Given the description of an element on the screen output the (x, y) to click on. 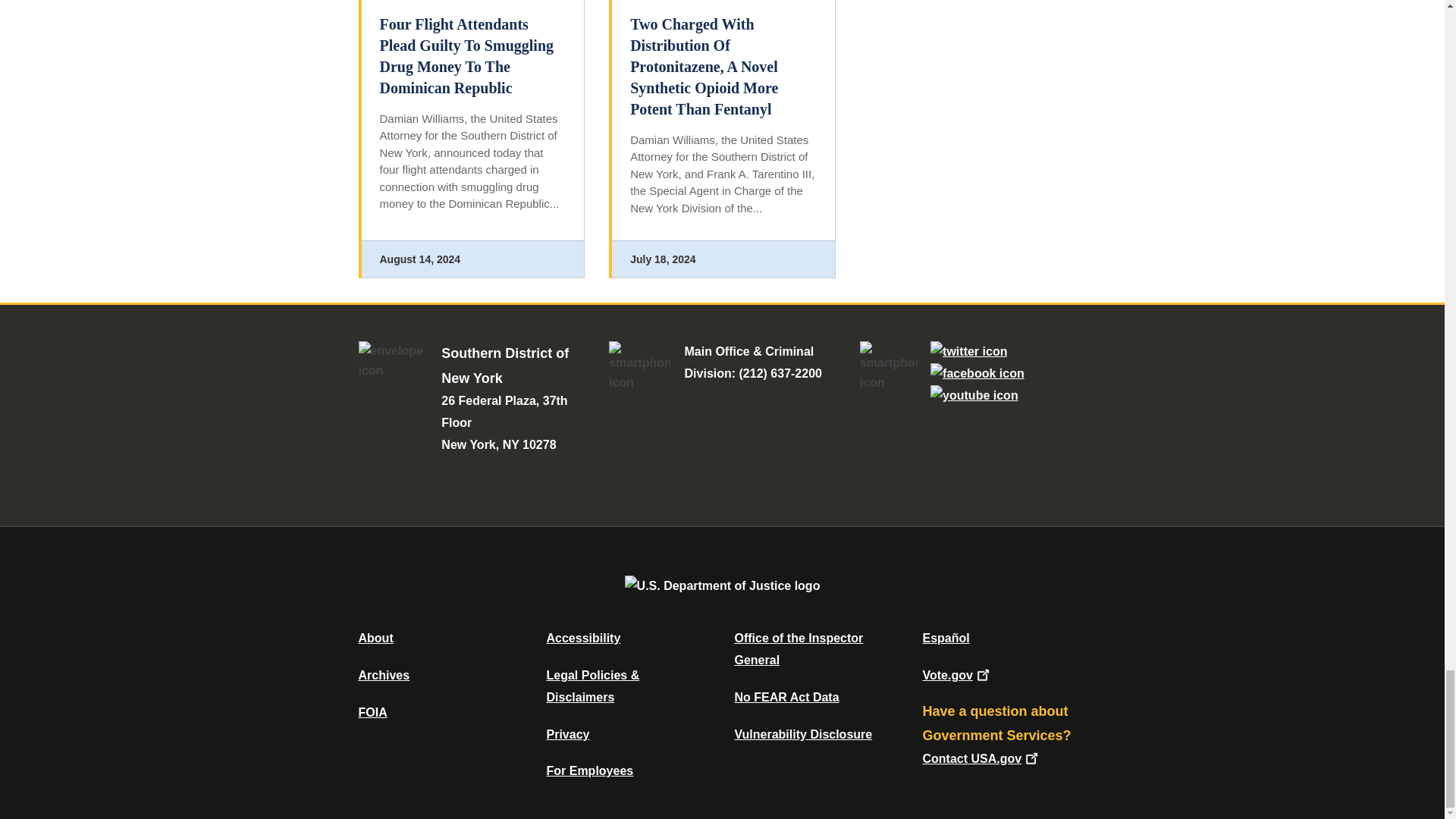
Data Posted Pursuant To The No Fear Act (785, 697)
Accessibility Statement (583, 637)
Legal Policies and Disclaimers (592, 686)
Department of Justice Archive (383, 675)
Office of Information Policy (372, 712)
About DOJ (375, 637)
For Employees (589, 770)
